Given the description of an element on the screen output the (x, y) to click on. 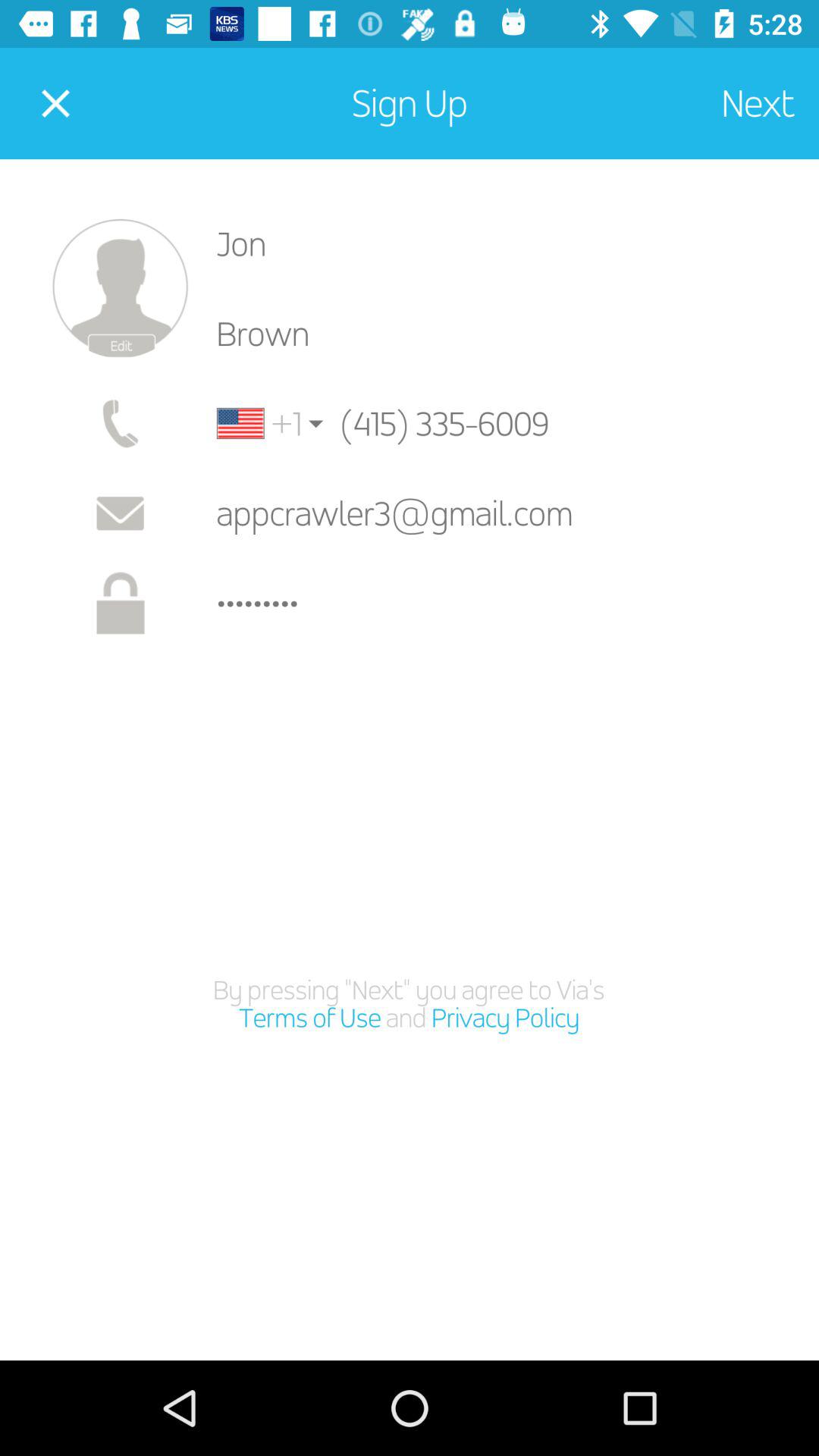
swipe until the crowd3116 item (505, 603)
